Given the description of an element on the screen output the (x, y) to click on. 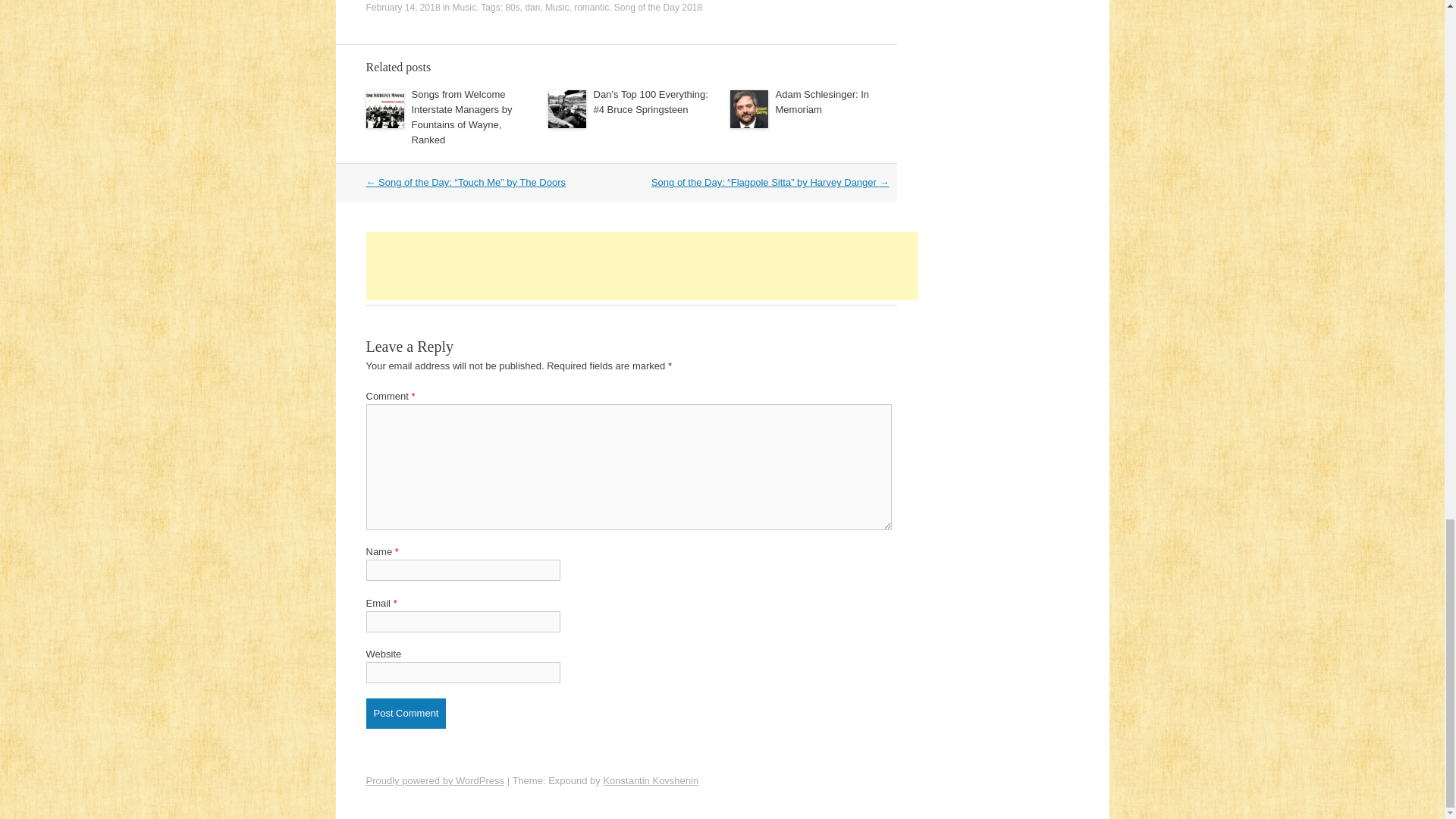
dan (532, 7)
Adam Schlesinger: In Memoriam (821, 101)
Music (556, 7)
Permalink to Adam Schlesinger: In Memoriam (821, 101)
Post Comment (405, 713)
February 14, 2018 (402, 7)
Song of the Day 2018 (657, 7)
Music (464, 7)
